Given the description of an element on the screen output the (x, y) to click on. 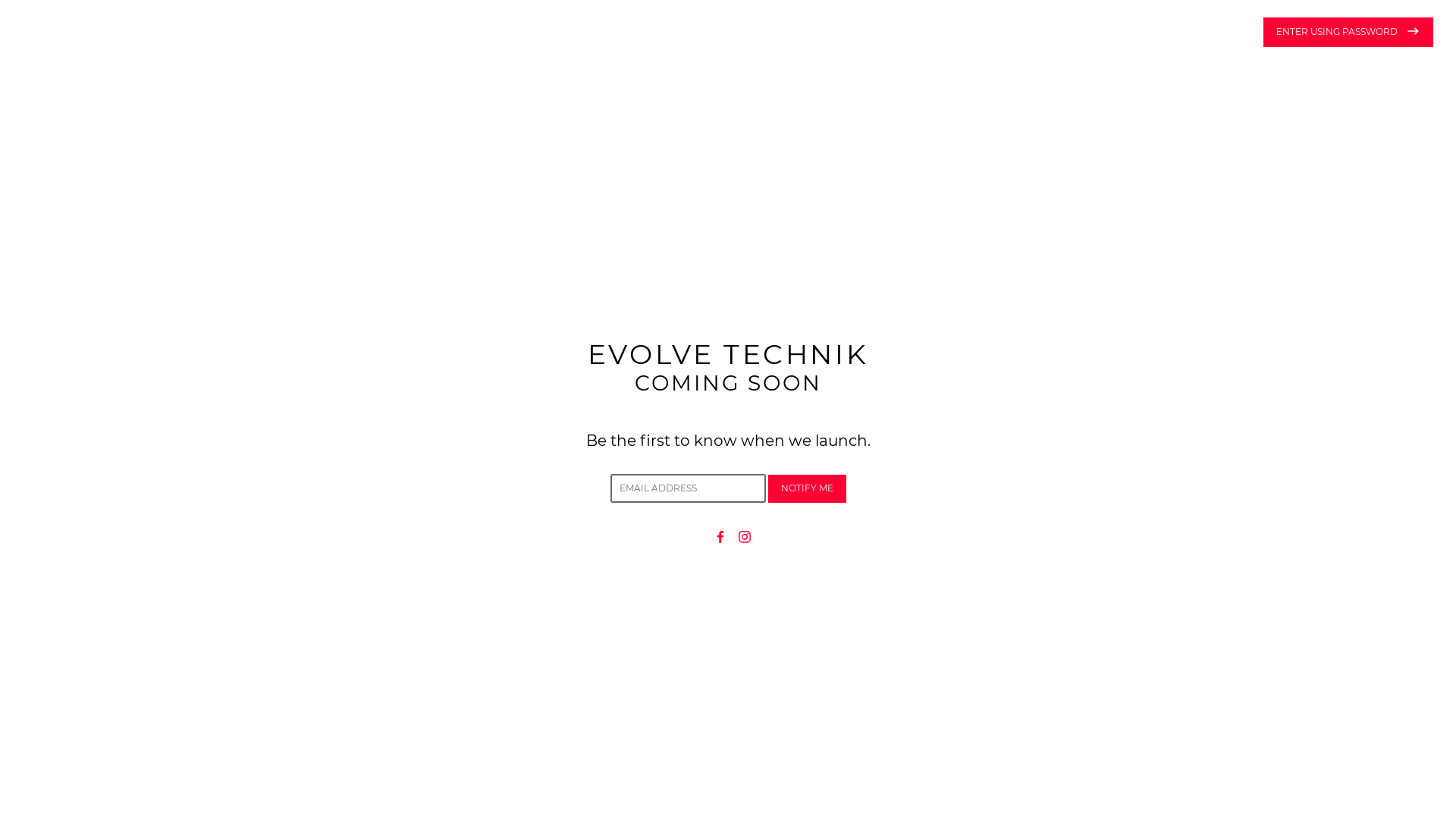
Evolve Technik on Facebook Element type: hover (720, 534)
ENTER USING PASSWORD Element type: text (1348, 32)
Evolve Technik on Instagram Element type: hover (744, 534)
NOTIFY ME Element type: text (806, 488)
